Given the description of an element on the screen output the (x, y) to click on. 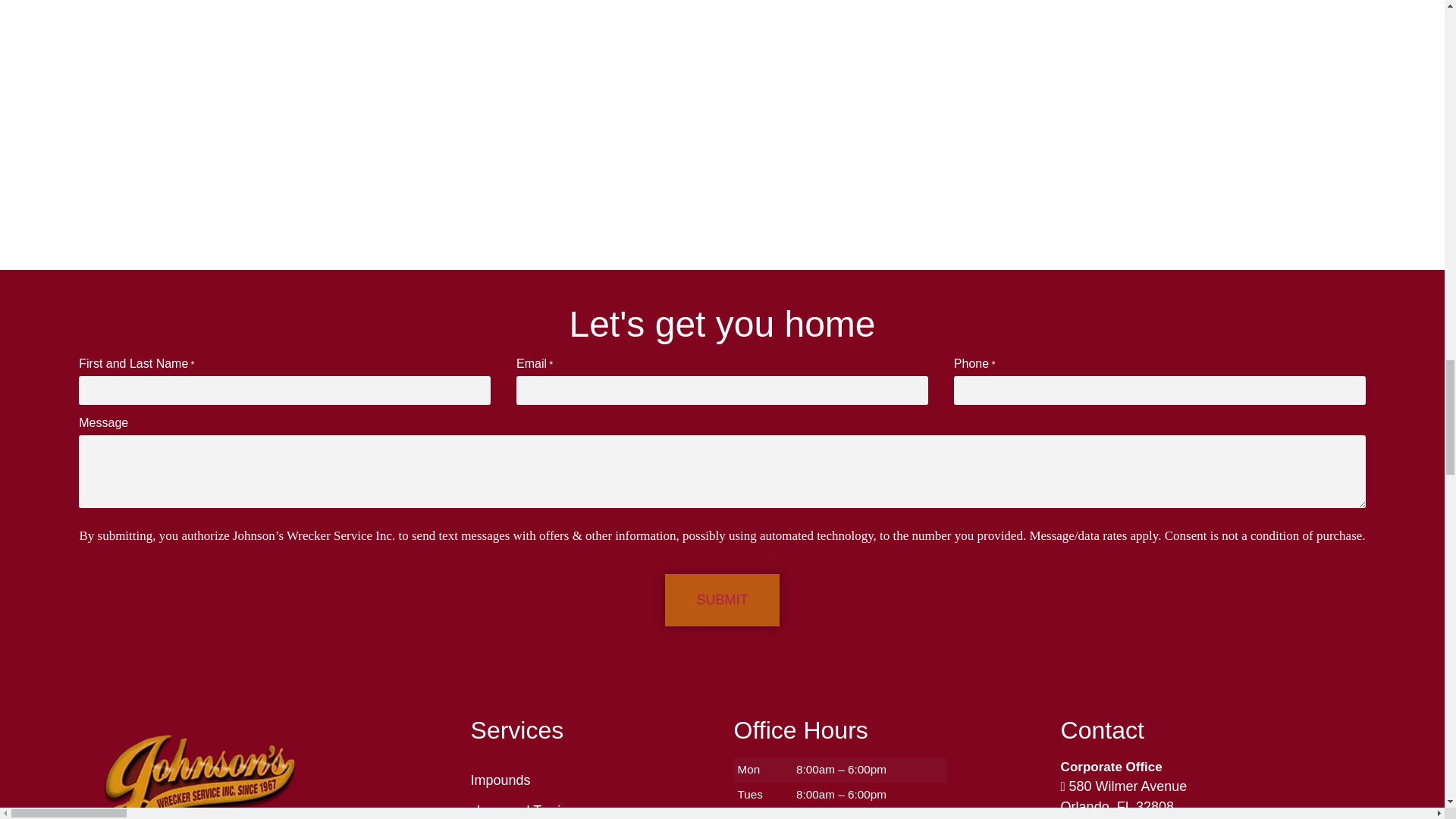
Submit (721, 600)
